Given the description of an element on the screen output the (x, y) to click on. 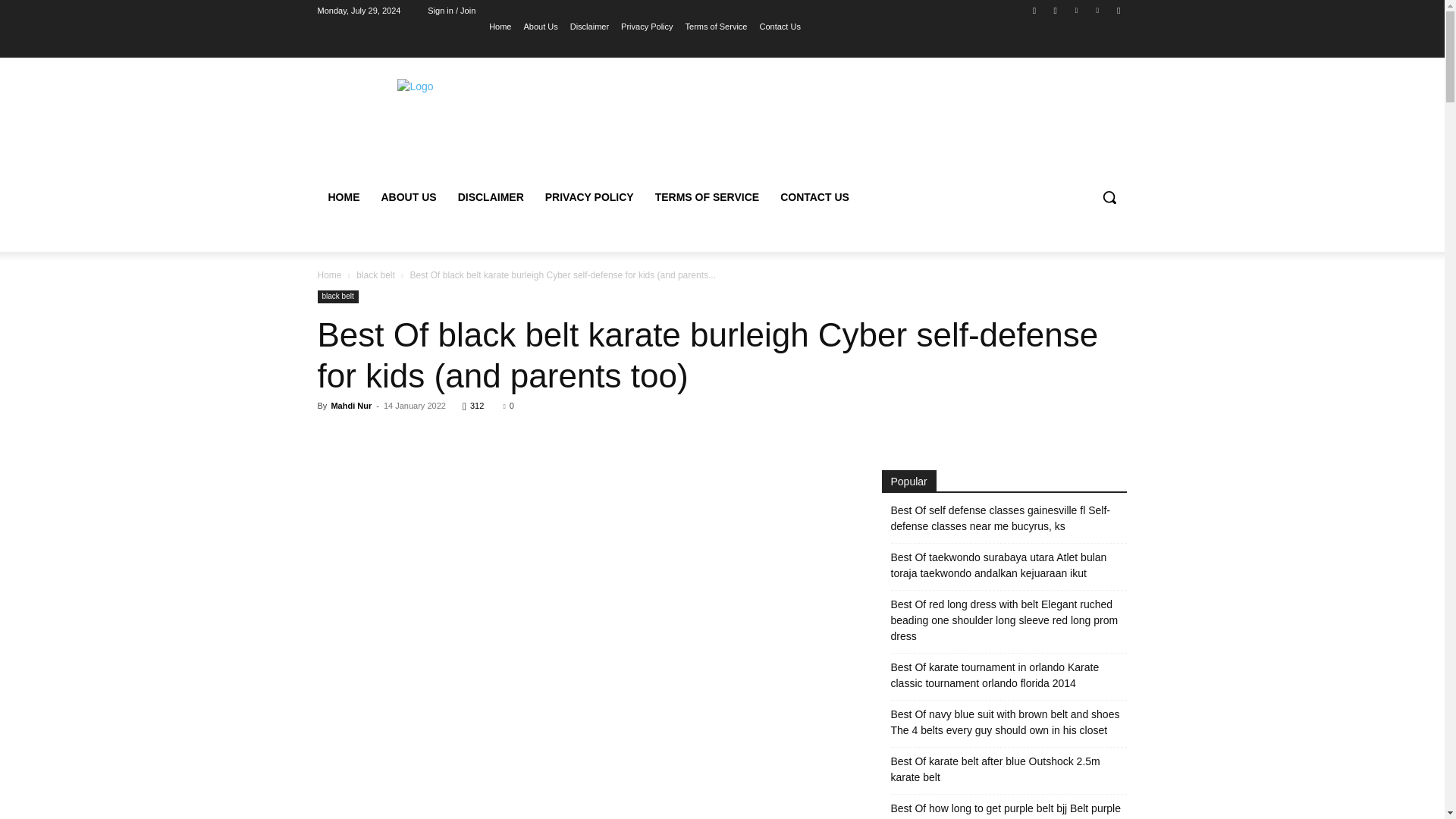
Disclaimer (589, 25)
Terms of Service (716, 25)
HOME (343, 197)
Privacy Policy (646, 25)
CONTACT US (815, 197)
Facebook (1034, 9)
Contact Us (778, 25)
Twitter (1075, 9)
About Us (539, 25)
Youtube (1117, 9)
TERMS OF SERVICE (707, 197)
PRIVACY POLICY (589, 197)
ABOUT US (407, 197)
black belt (375, 275)
0 (507, 405)
